Given the description of an element on the screen output the (x, y) to click on. 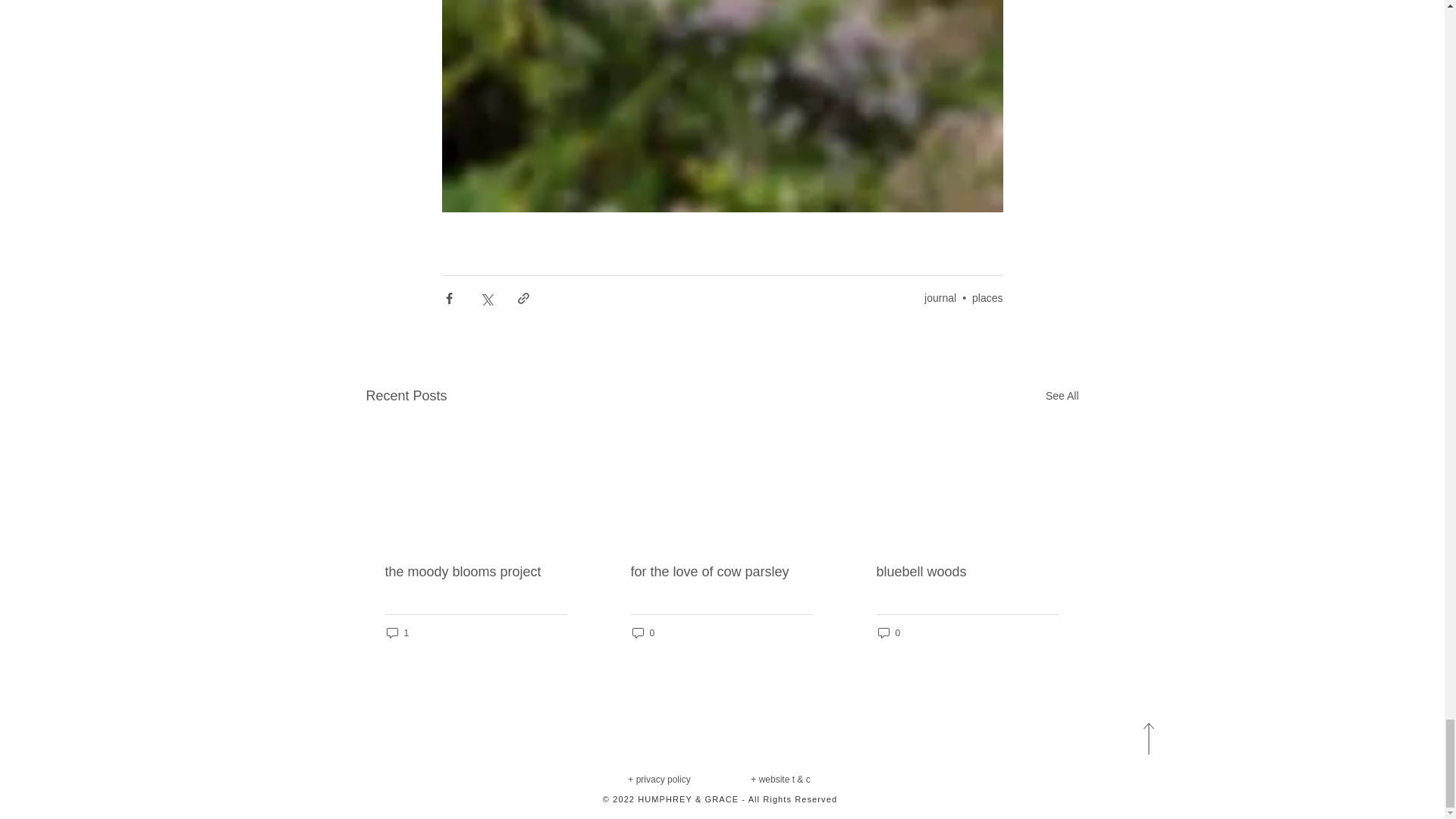
0 (889, 632)
bluebell woods (967, 571)
for the love of cow parsley (721, 571)
the moody blooms project (476, 571)
places (987, 297)
1 (397, 632)
See All (1061, 395)
0 (643, 632)
journal (940, 297)
